Given the description of an element on the screen output the (x, y) to click on. 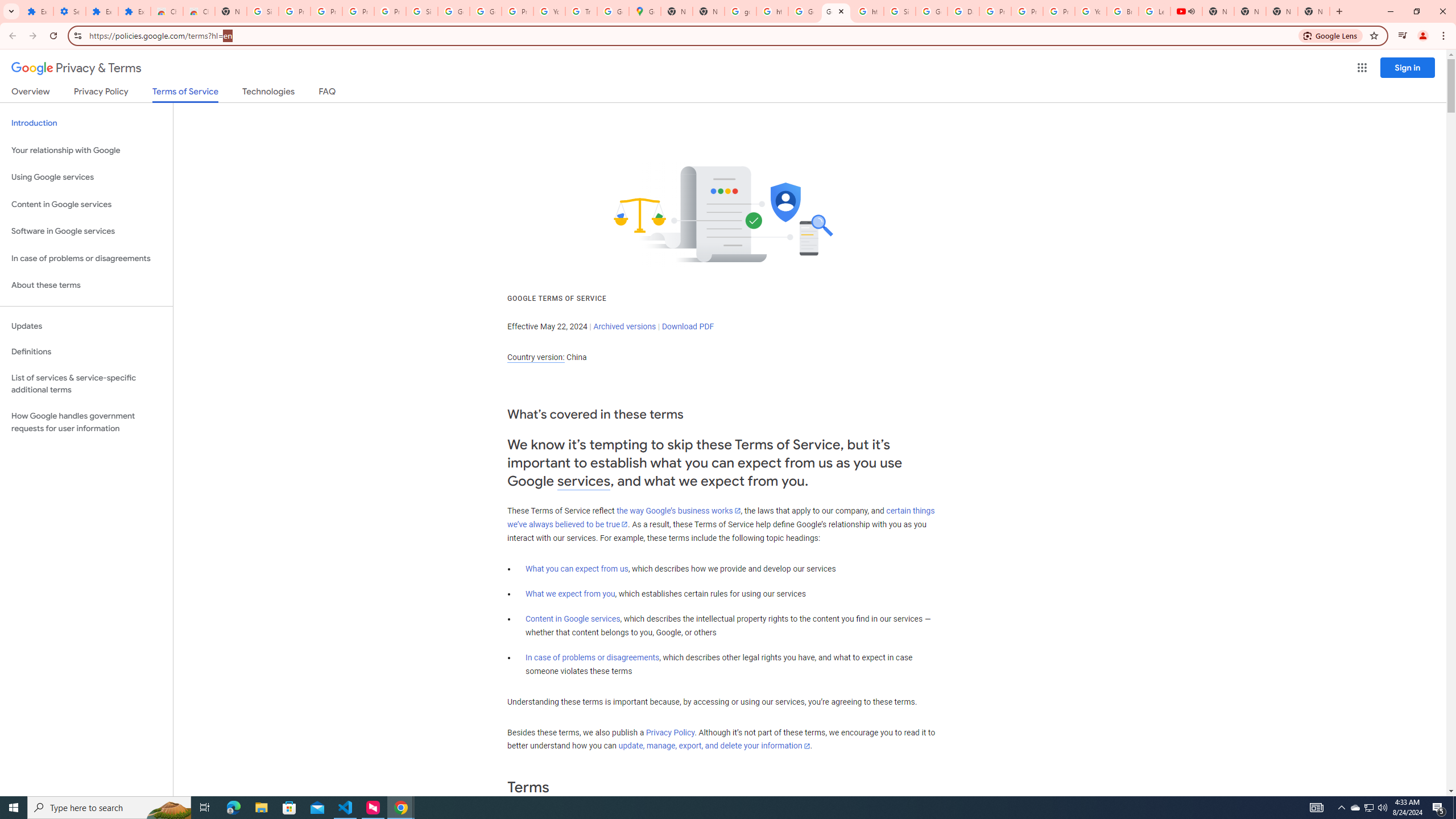
Extensions (134, 11)
What you can expect from us (576, 568)
Privacy Help Center - Policies Help (1027, 11)
New Tab (1313, 11)
Content in Google services (572, 618)
